Given the description of an element on the screen output the (x, y) to click on. 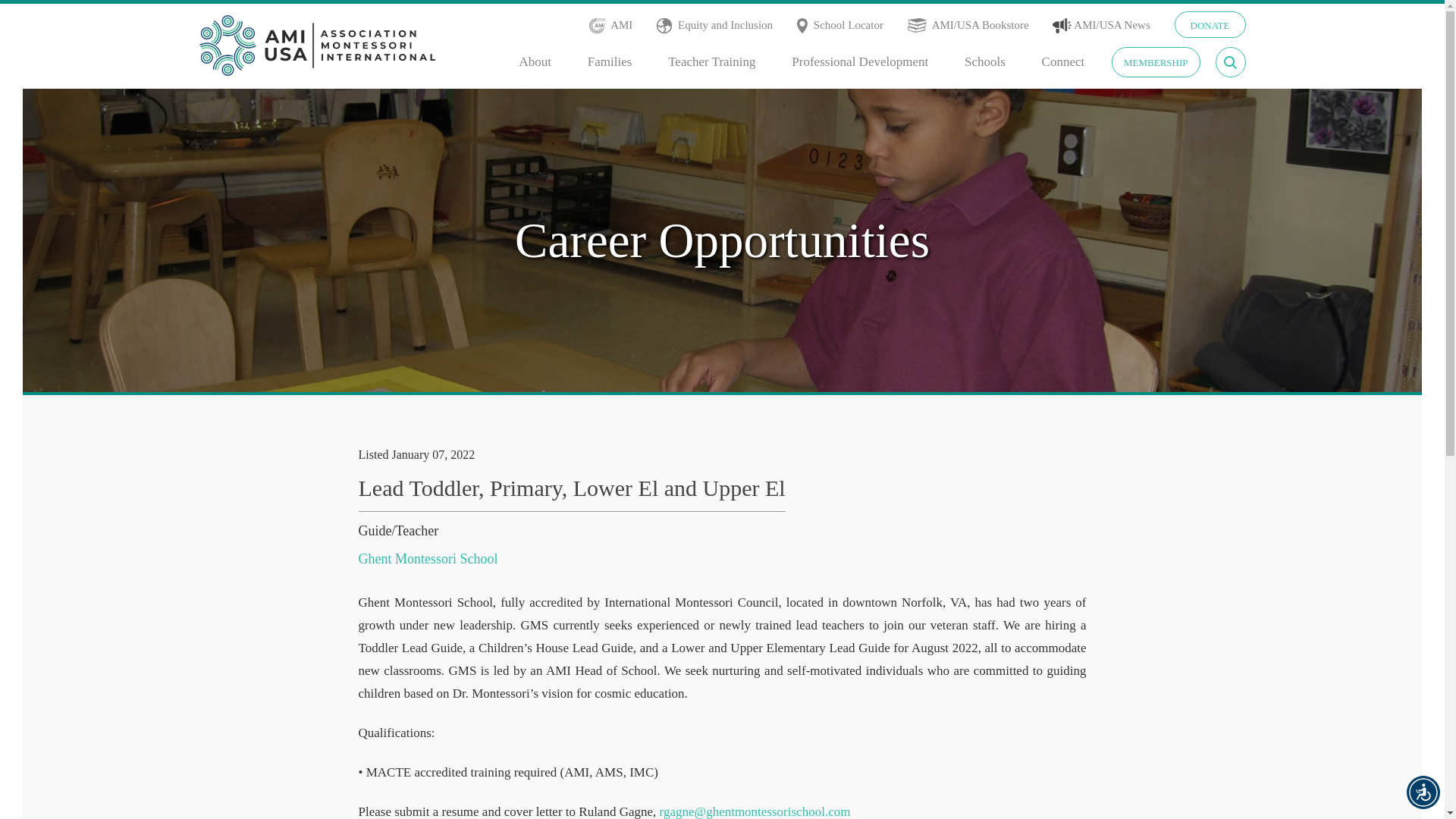
Professional Development (859, 61)
Accessibility Menu (1422, 792)
DONATE (1208, 24)
AMI (621, 24)
Families (609, 61)
Equity and Inclusion (724, 24)
Teacher Training (710, 61)
About (535, 61)
School Locator (850, 24)
